Given the description of an element on the screen output the (x, y) to click on. 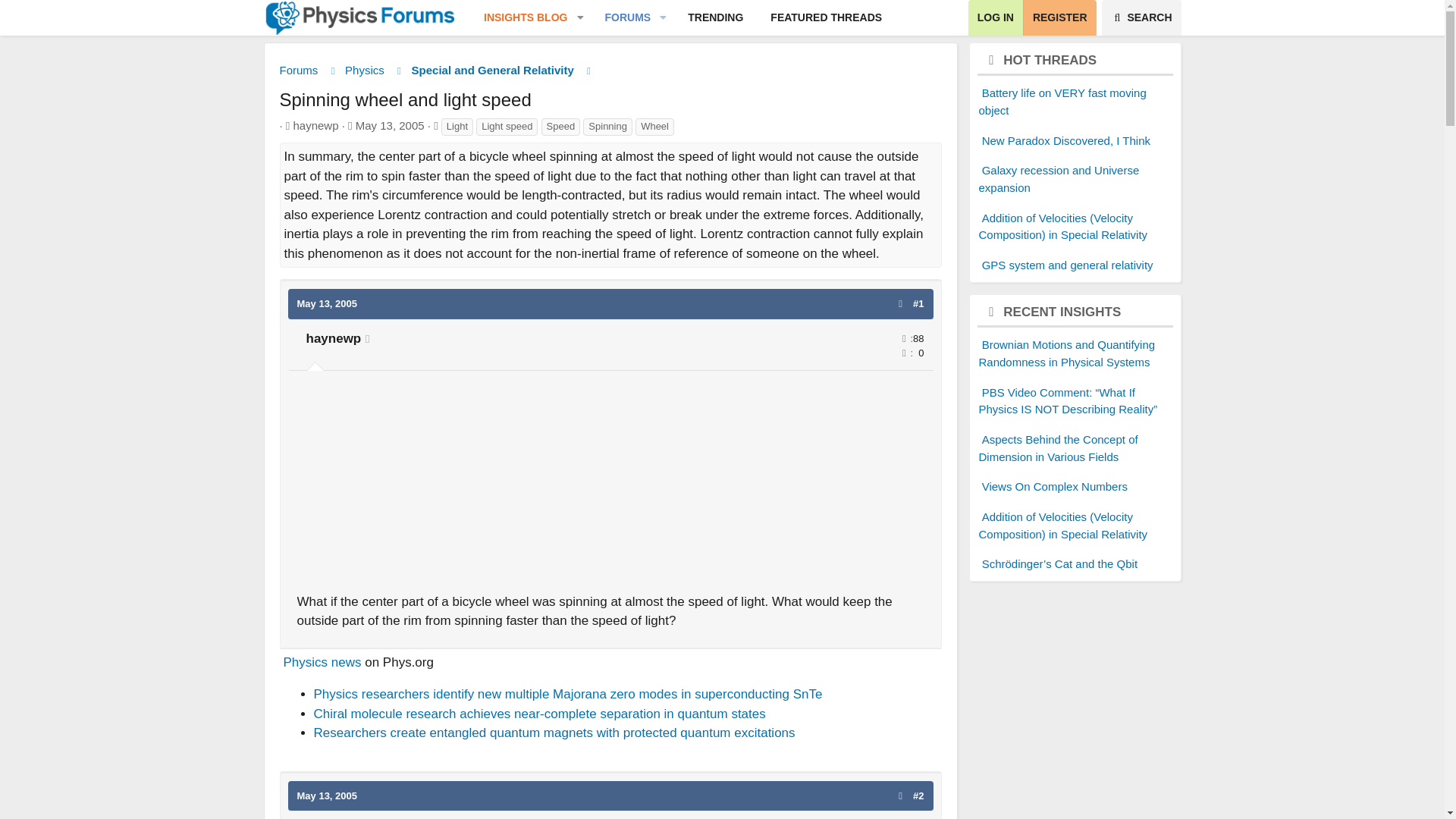
May 13, 2005 at 9:02 PM (327, 303)
TRENDING (682, 18)
Reaction score (715, 18)
SEARCH (904, 352)
INSIGHTS BLOG (1140, 18)
FEATURED THREADS (519, 18)
Advertisement (826, 18)
Search (610, 485)
Messages (1140, 18)
